Given the description of an element on the screen output the (x, y) to click on. 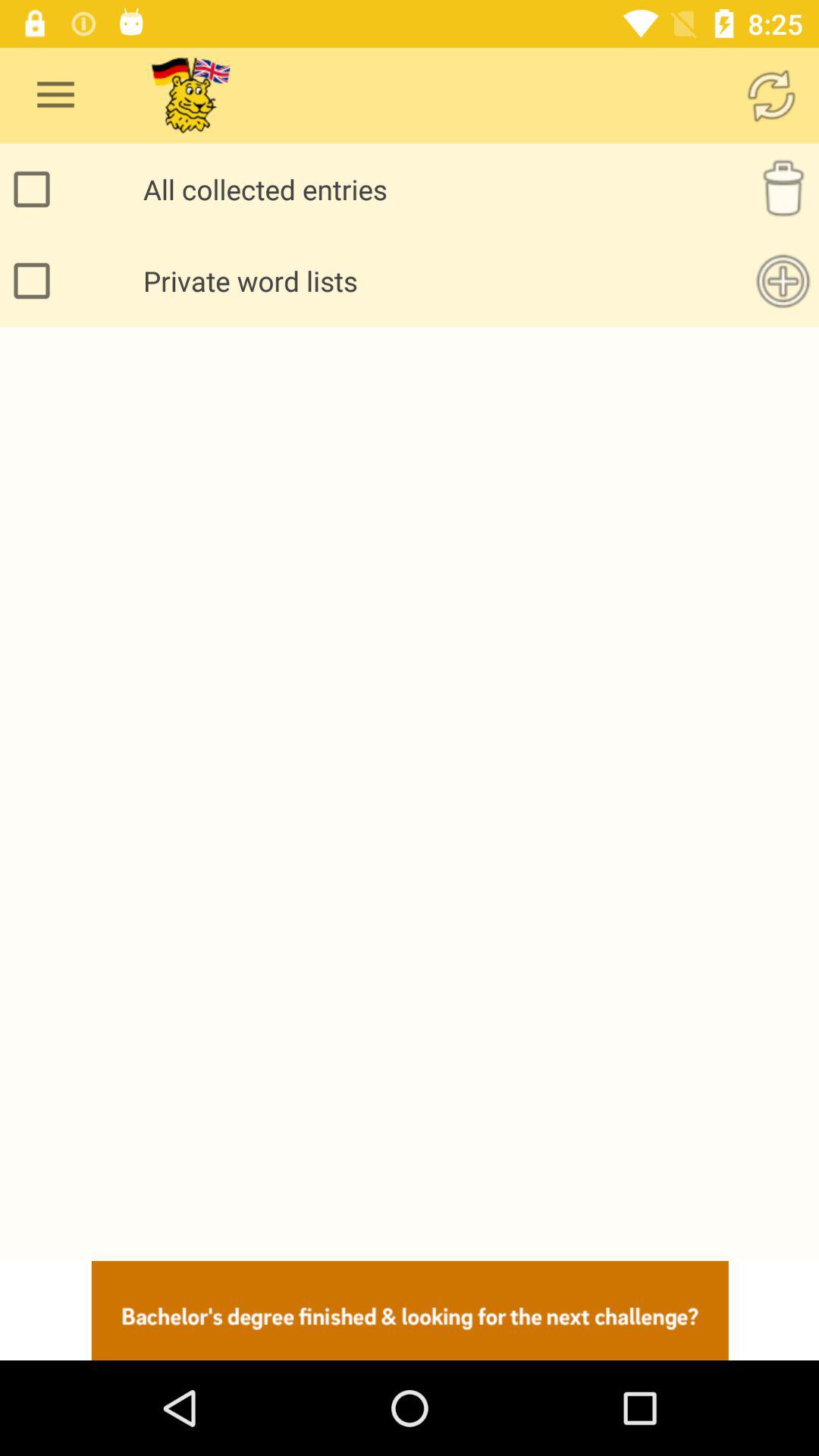
trash can (783, 189)
